Given the description of an element on the screen output the (x, y) to click on. 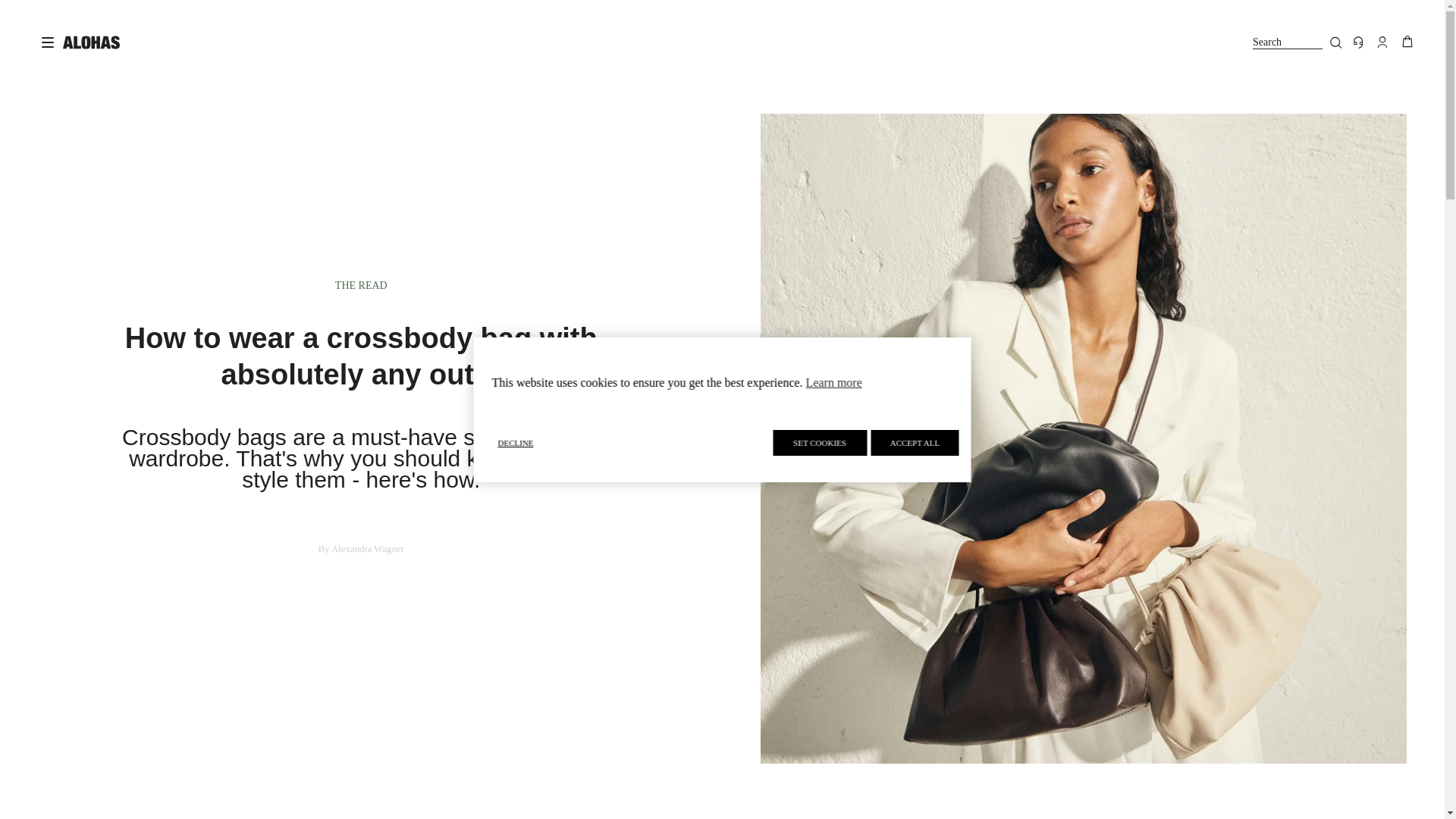
ACCEPT ALL (914, 442)
MY ACCOUNT (1382, 42)
SET COOKIES (819, 442)
DECLINE (628, 442)
Learn more (833, 382)
Account (1297, 42)
